Given the description of an element on the screen output the (x, y) to click on. 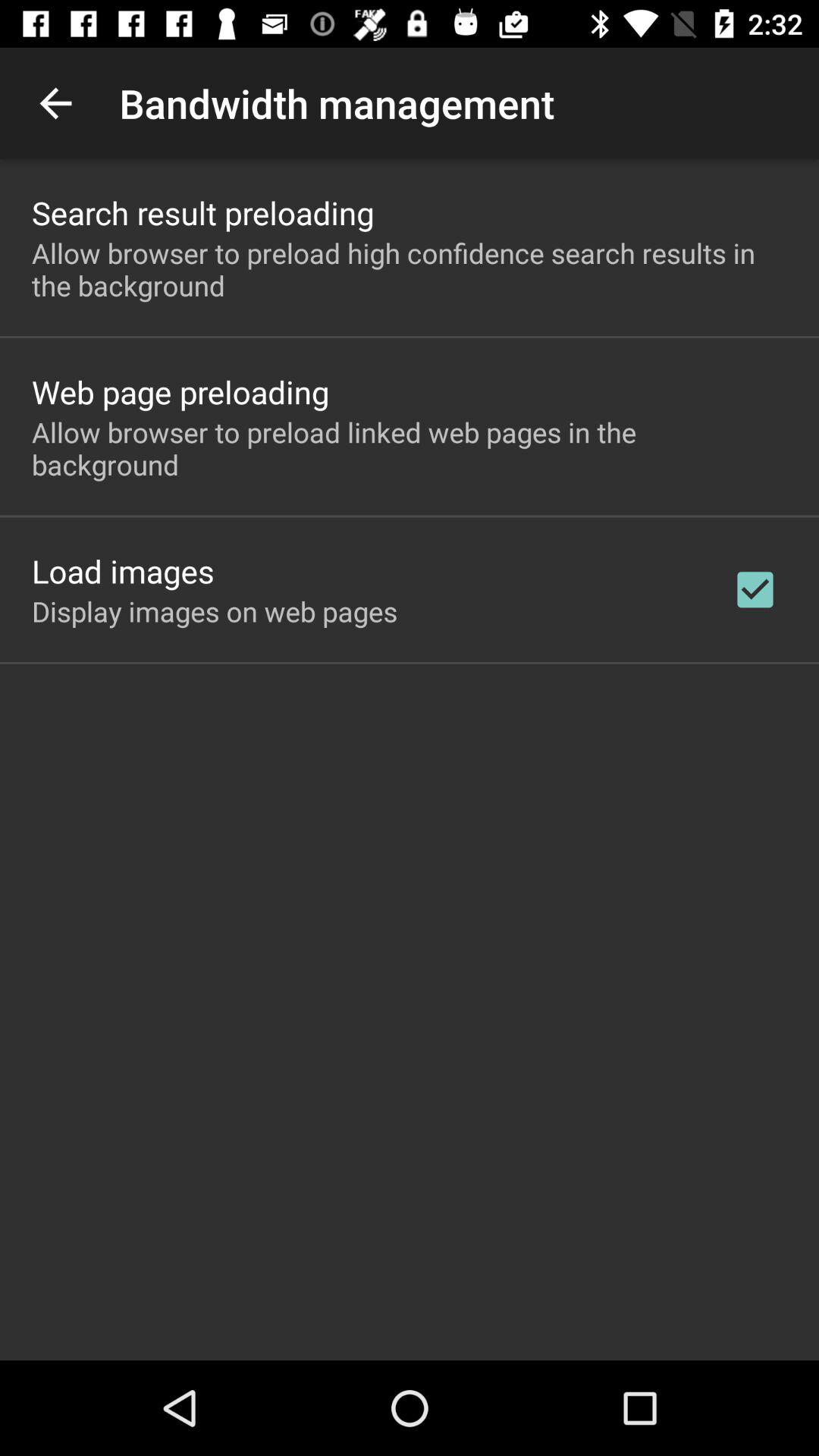
turn on item next to the display images on app (755, 589)
